Given the description of an element on the screen output the (x, y) to click on. 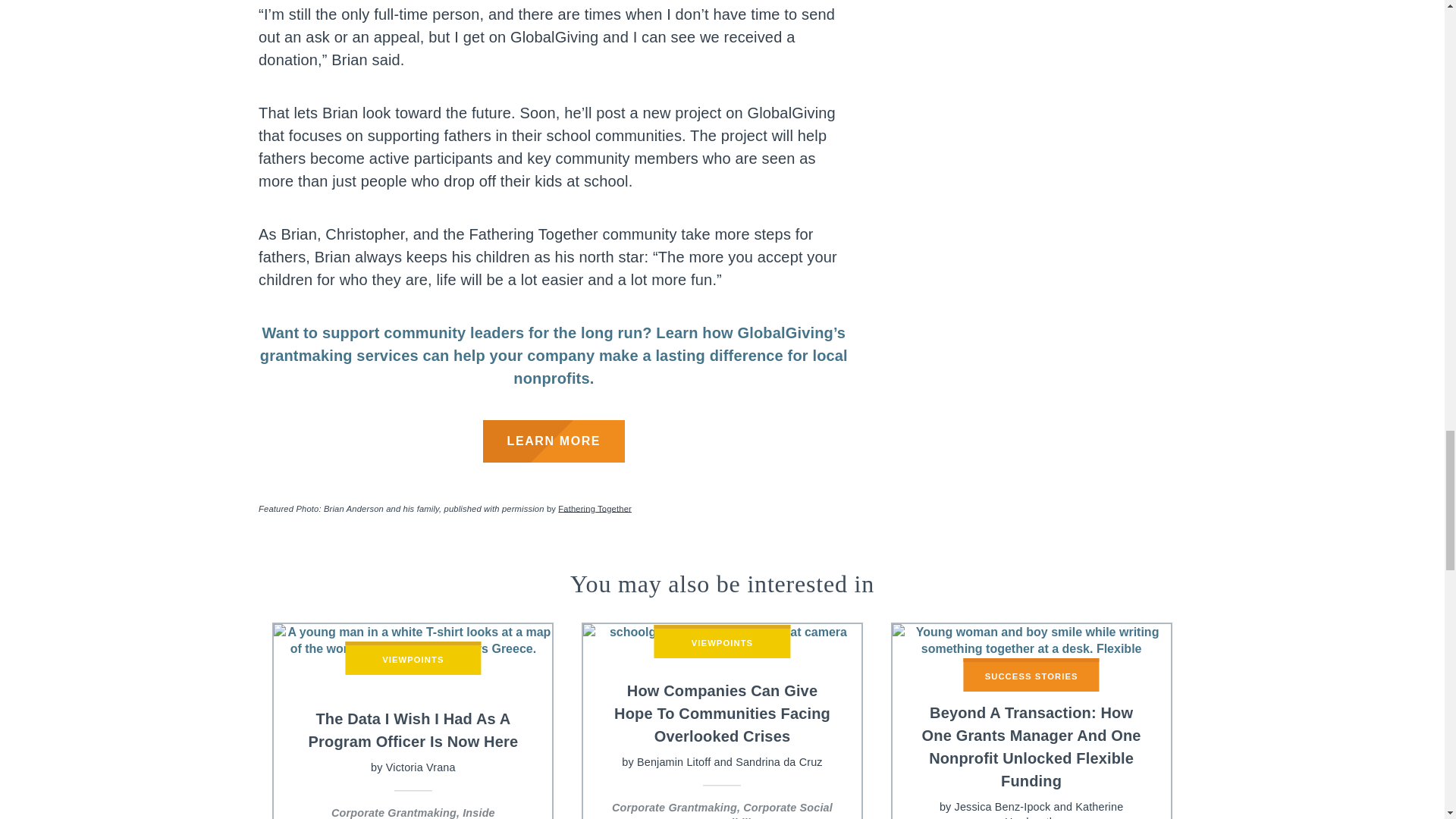
Posts by Victoria Vrana (420, 767)
Posts by Sandrina da Cruz (778, 762)
Posts by Katherine Hardcastle (1063, 810)
Posts by Benjamin Litoff (673, 762)
Posts by Jessica Benz-Ipock (1003, 807)
